Given the description of an element on the screen output the (x, y) to click on. 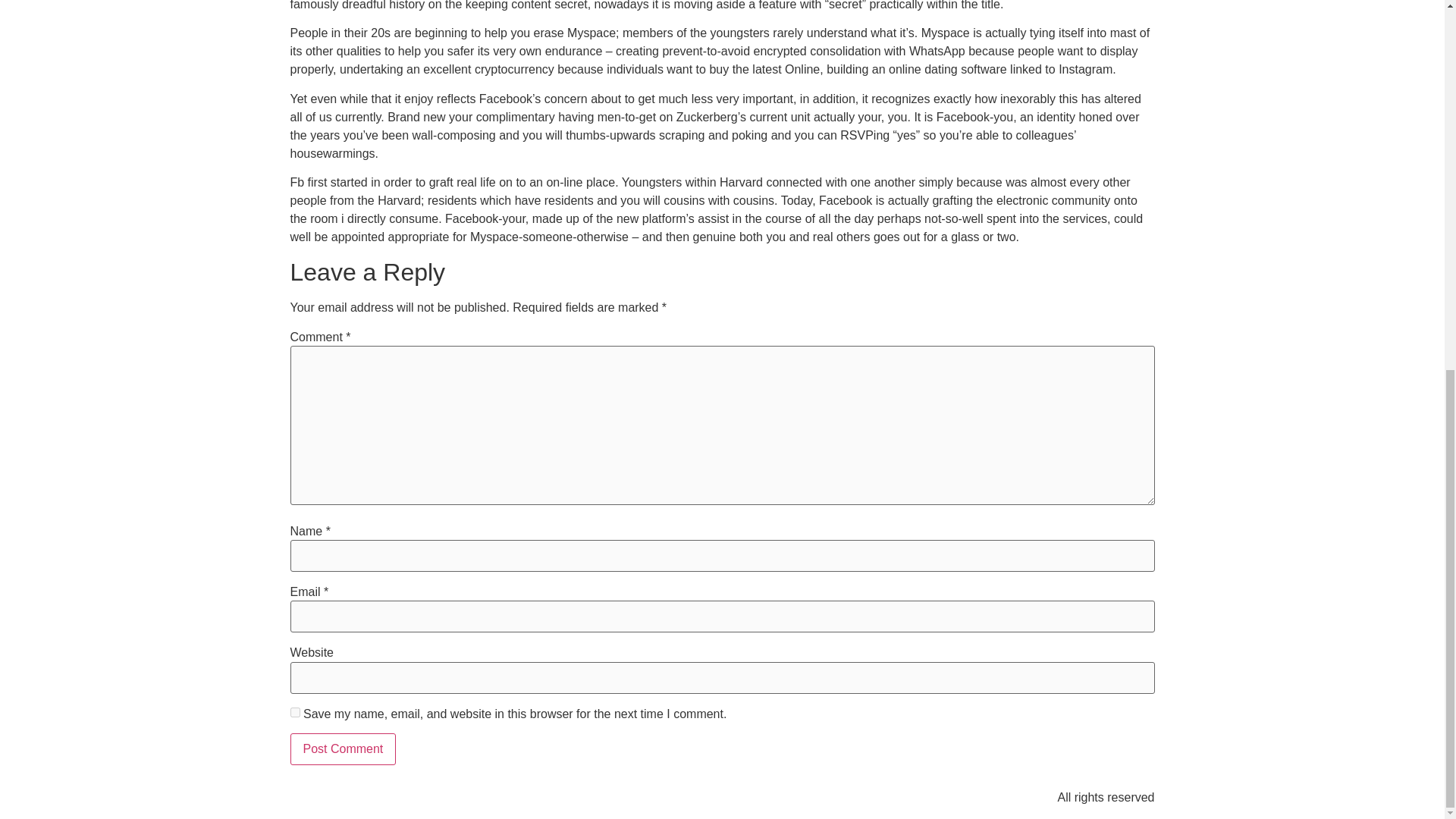
yes (294, 712)
Post Comment (342, 748)
Post Comment (342, 748)
